Given the description of an element on the screen output the (x, y) to click on. 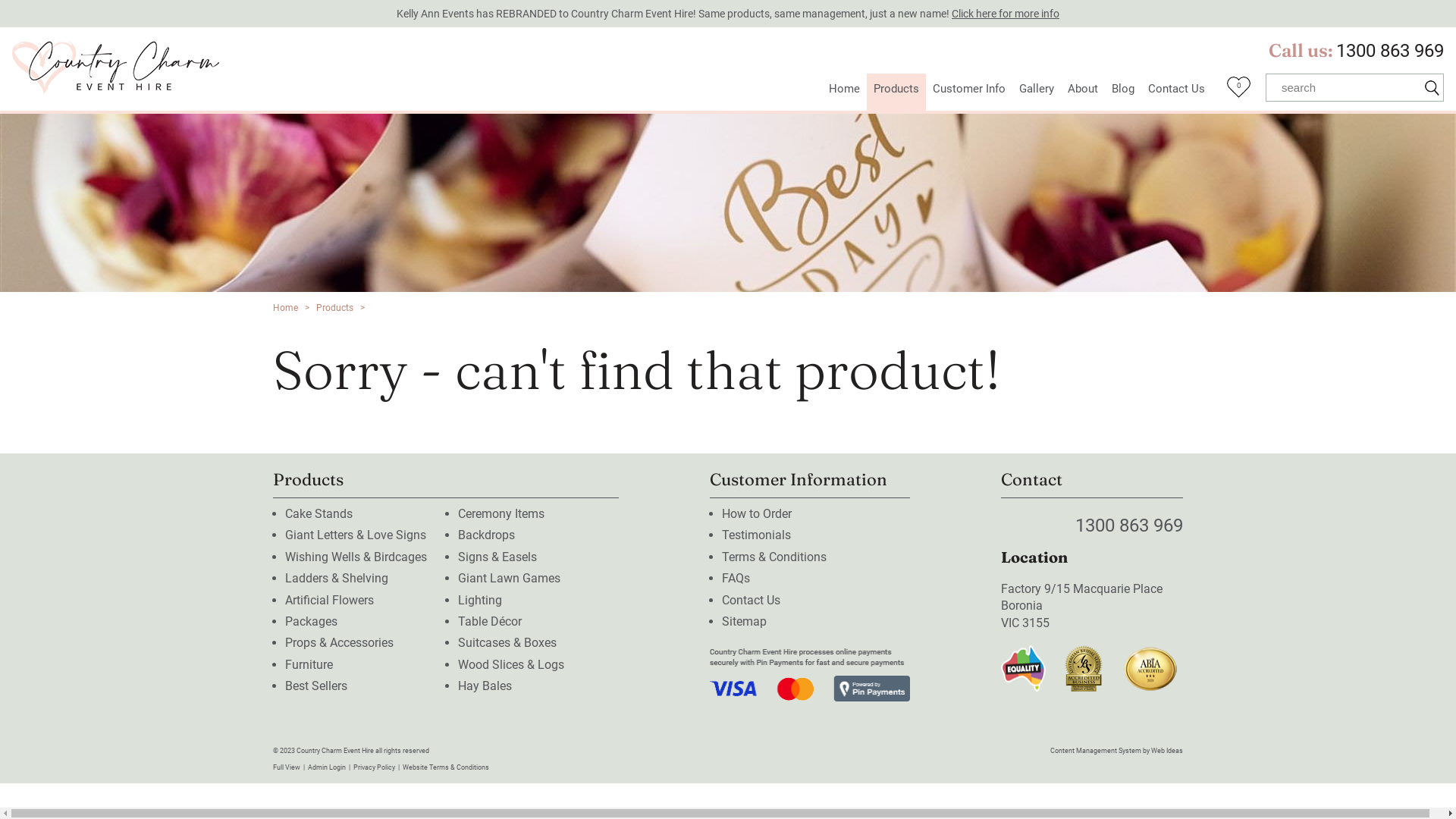
Ceremony Items Element type: text (501, 513)
Lighting Element type: text (480, 600)
Products Element type: text (895, 91)
Furniture Element type: text (308, 664)
Wishing Wells & Birdcages Element type: text (355, 556)
Blog Element type: text (1122, 91)
Wood Slices & Logs Element type: text (511, 664)
Sitemap Element type: text (743, 621)
Admin Login Element type: text (326, 767)
Home Element type: text (844, 91)
Products Element type: text (334, 307)
Giant Lawn Games Element type: text (509, 578)
Hay Bales Element type: text (484, 685)
Artificial Flowers Element type: text (329, 600)
1300 863 969 Element type: text (1129, 525)
How to Order Element type: text (756, 513)
Gallery Element type: text (1036, 91)
Full View Element type: text (286, 767)
FAQs Element type: text (735, 578)
Terms & Conditions Element type: text (773, 556)
Privacy Policy Element type: text (374, 767)
Best Sellers Element type: text (316, 685)
Giant Letters & Love Signs Element type: text (355, 534)
Ladders & Shelving Element type: text (336, 578)
Backdrops Element type: text (486, 534)
About Element type: text (1082, 91)
Home Element type: text (285, 307)
Signs & Easels Element type: text (497, 556)
Content Management System Element type: text (1095, 750)
0 Element type: text (1238, 91)
Props & Accessories Element type: text (339, 642)
Packages Element type: text (311, 621)
Web Ideas Element type: text (1167, 750)
search Element type: text (1343, 87)
Contact Us Element type: text (1176, 91)
Suitcases & Boxes Element type: text (507, 642)
1300 863 969 Element type: text (1389, 50)
Customer Info Element type: text (968, 91)
Contact Us Element type: text (750, 600)
Website Terms & Conditions Element type: text (445, 767)
Testimonials Element type: text (755, 534)
Click here for more info Element type: text (1005, 13)
Cake Stands Element type: text (318, 513)
